Given the description of an element on the screen output the (x, y) to click on. 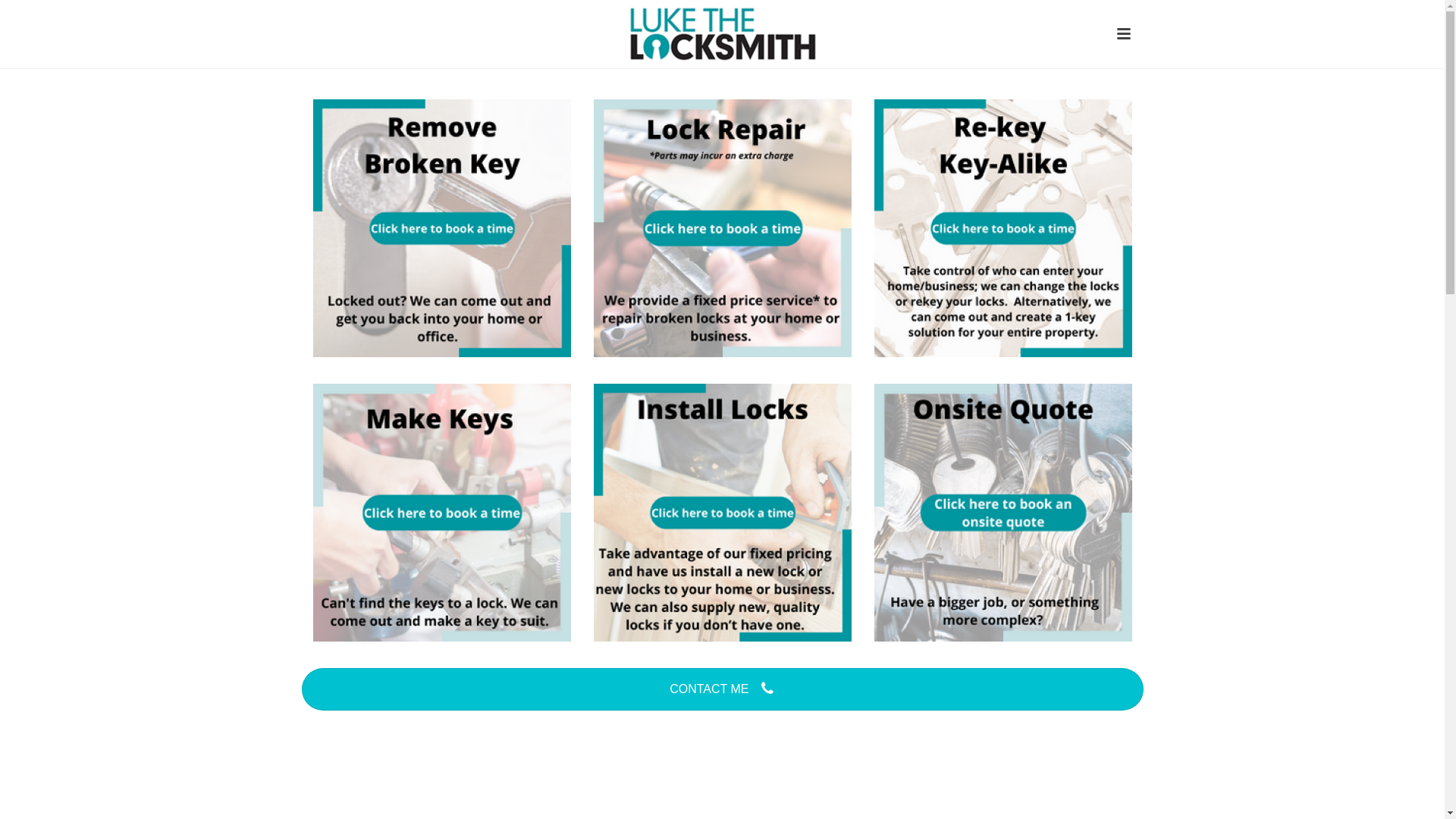
Live and work securely Element type: hover (722, 34)
CONTACT ME Element type: text (722, 689)
